Given the description of an element on the screen output the (x, y) to click on. 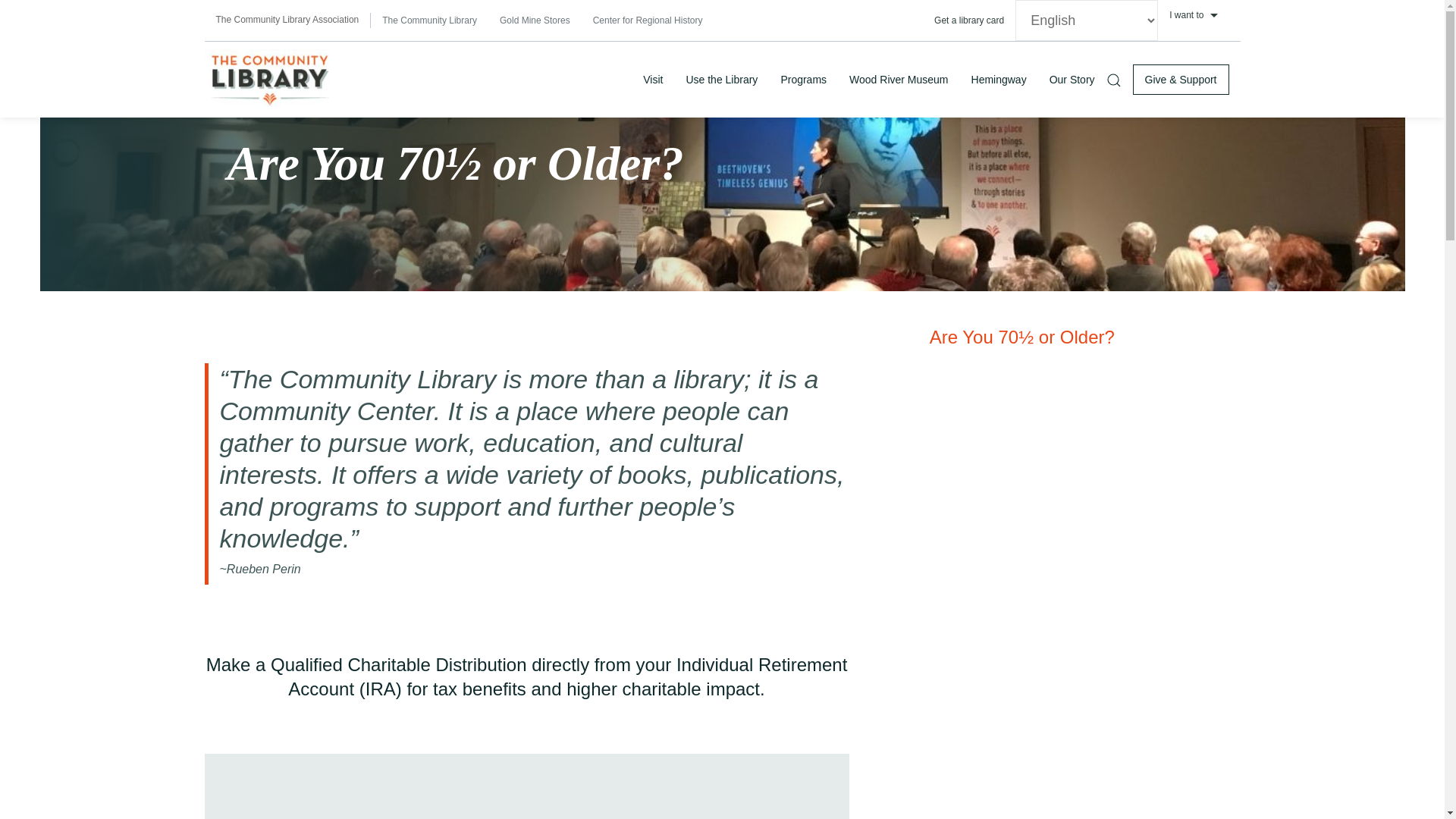
I want to (1198, 15)
Gold Mine Stores (533, 20)
The Community Library (429, 20)
Center for Regional History (647, 20)
Use the Library (721, 79)
Get a library card (968, 20)
Programs (803, 79)
